Given the description of an element on the screen output the (x, y) to click on. 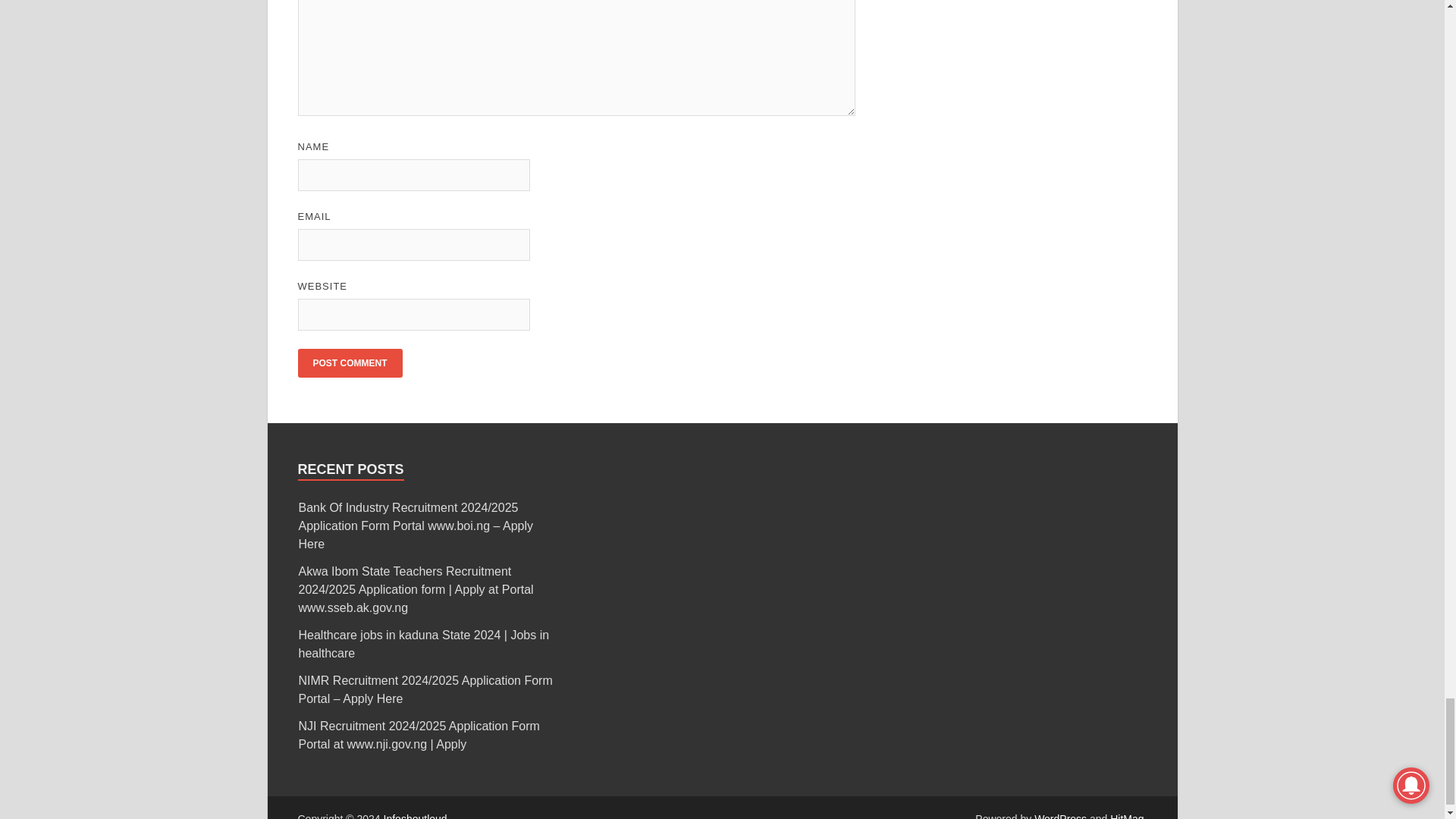
Post Comment (349, 362)
